Given the description of an element on the screen output the (x, y) to click on. 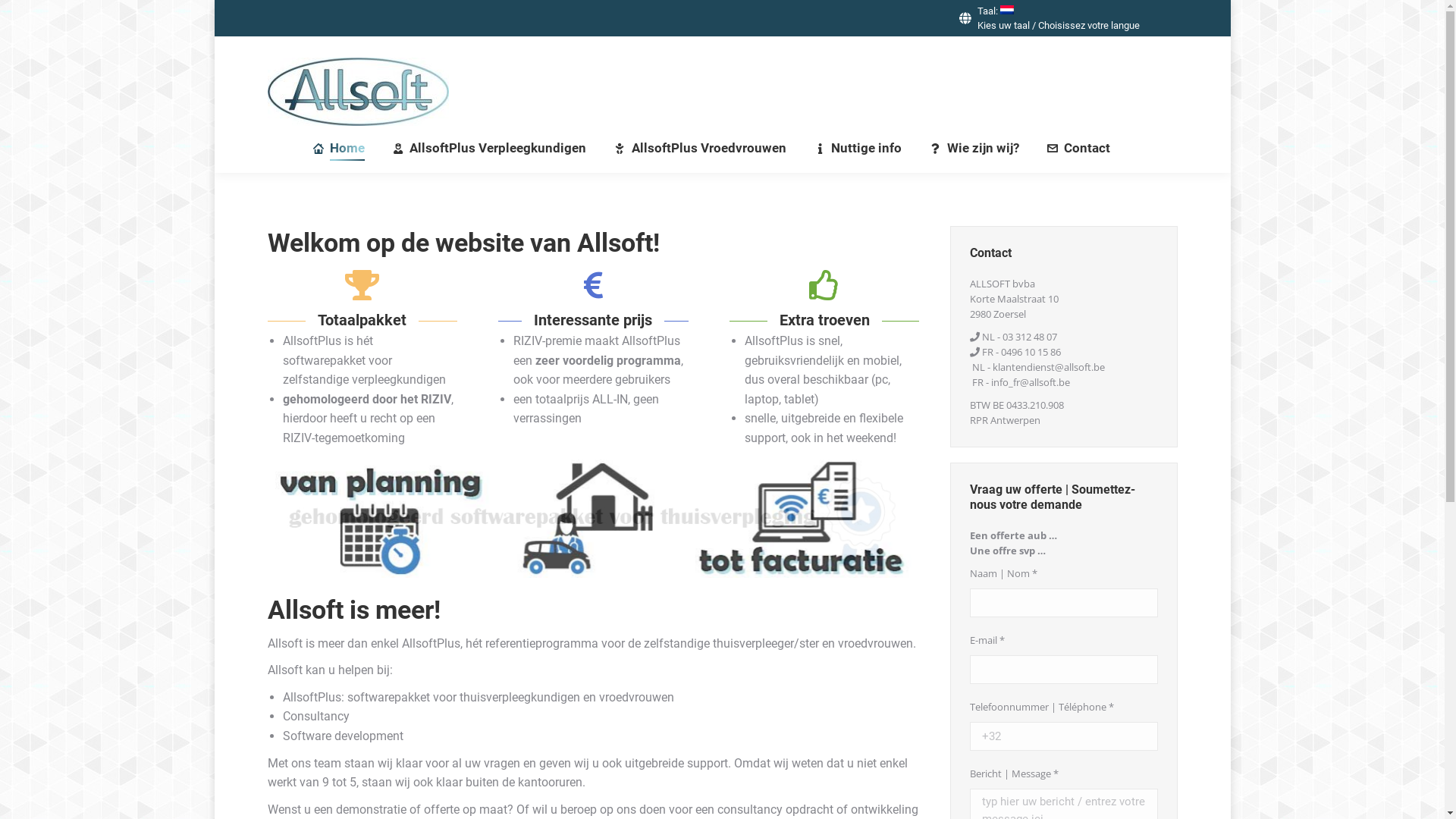
AllsoftPlus Verpleegkundigen Element type: text (488, 148)
NL - klantendienst@allsoft.be Element type: text (1038, 366)
Home Element type: text (337, 148)
AllsoftPlus Vroedvrouwen Element type: text (699, 148)
Taal: 
Kies uw taal / Choisissez votre langue Element type: text (1048, 17)
Wie zijn wij? Element type: text (973, 148)
FR - info_fr@allsoft.be Element type: text (1021, 382)
Nuttige info Element type: text (856, 148)
Contact Element type: text (1078, 148)
